Given the description of an element on the screen output the (x, y) to click on. 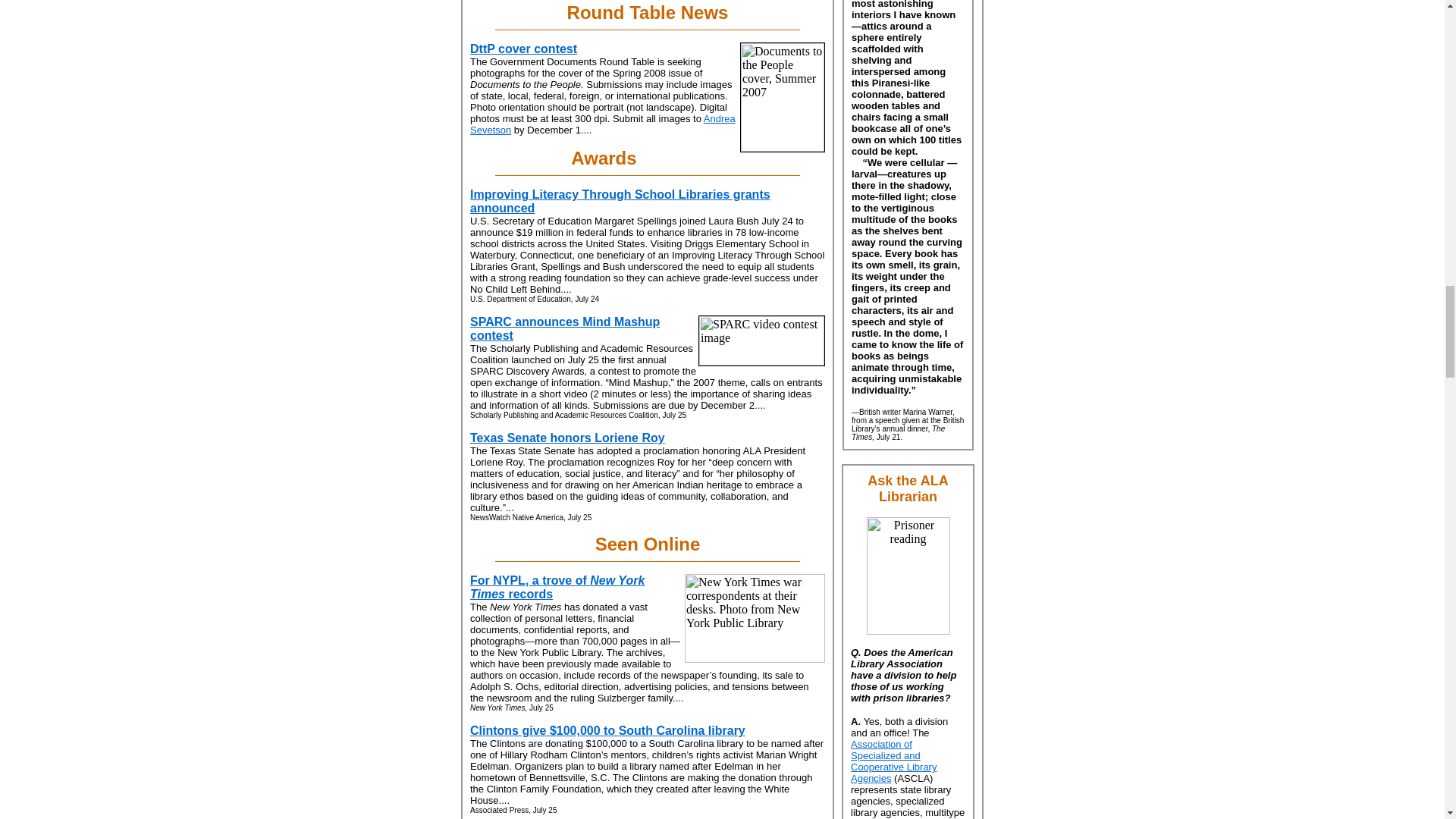
DttP cover contest (523, 48)
